Given the description of an element on the screen output the (x, y) to click on. 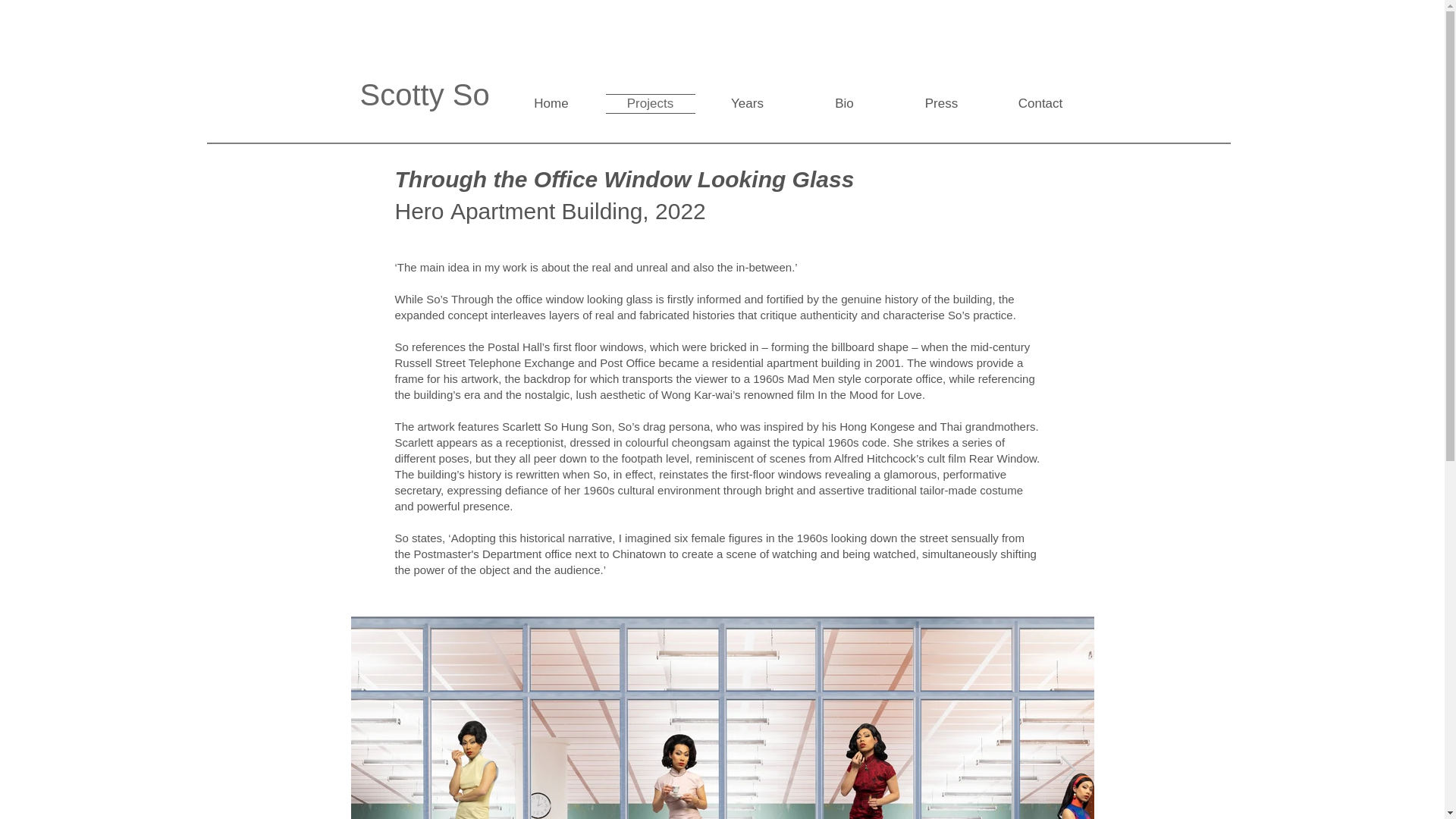
Home (553, 103)
Bio (844, 103)
Press (941, 103)
Contact (1038, 103)
Projects (650, 103)
Years (747, 103)
